Given the description of an element on the screen output the (x, y) to click on. 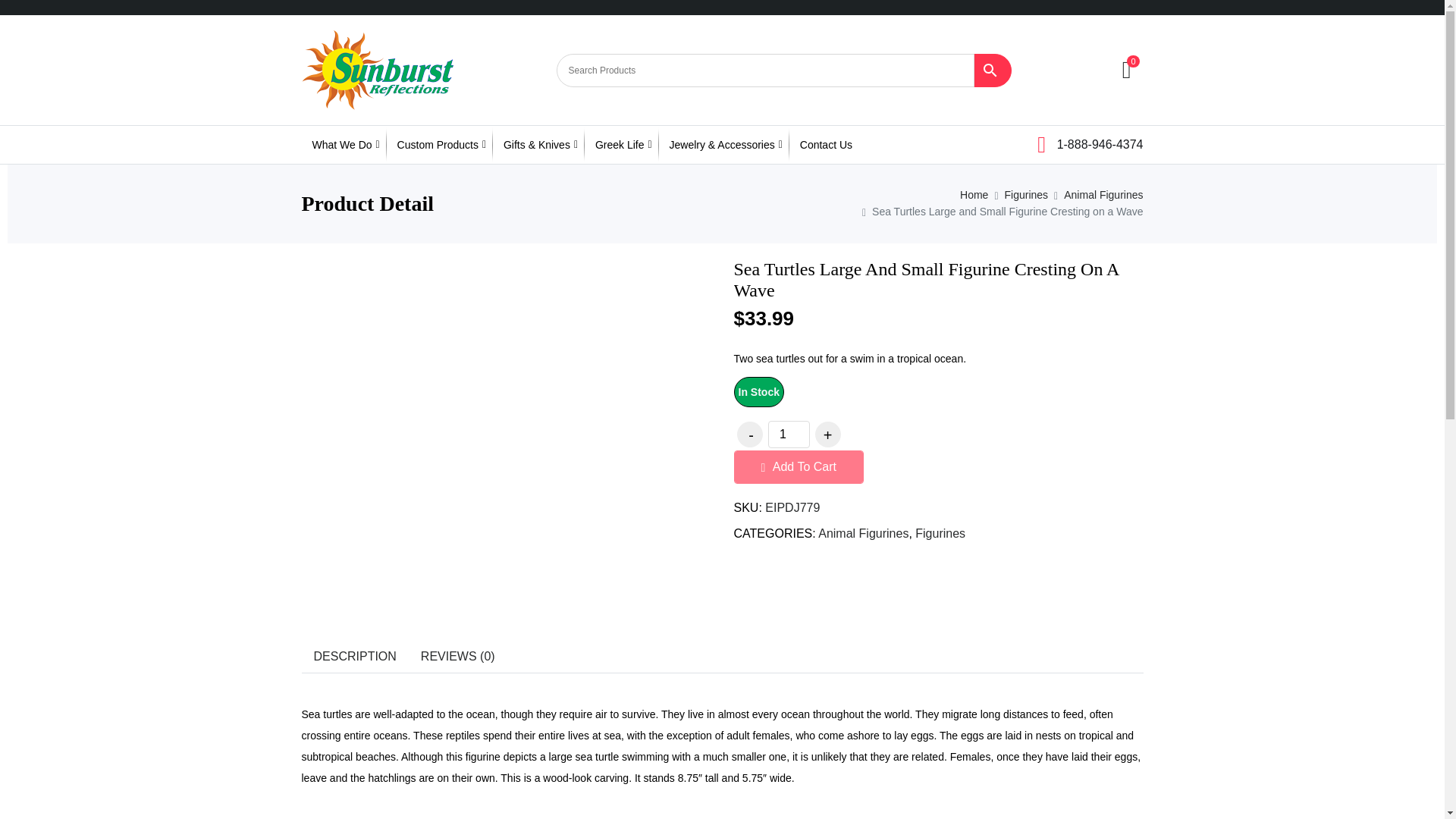
1 (788, 433)
- (749, 434)
Sunburst Reflections (376, 69)
1-888-946-4374 (1089, 143)
